Given the description of an element on the screen output the (x, y) to click on. 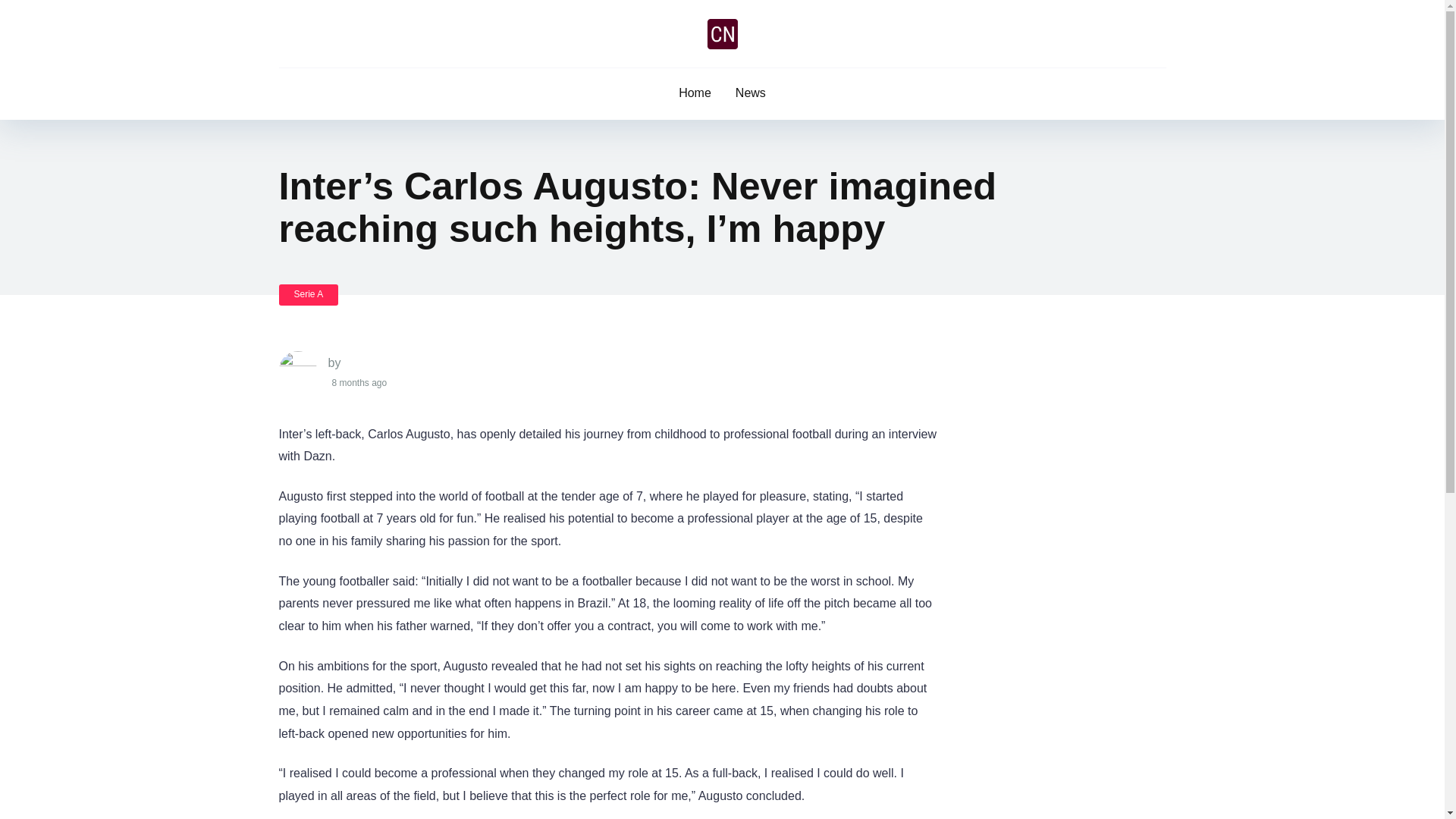
Home (694, 93)
Calcio News (721, 33)
Serie A (309, 294)
News (750, 93)
